Given the description of an element on the screen output the (x, y) to click on. 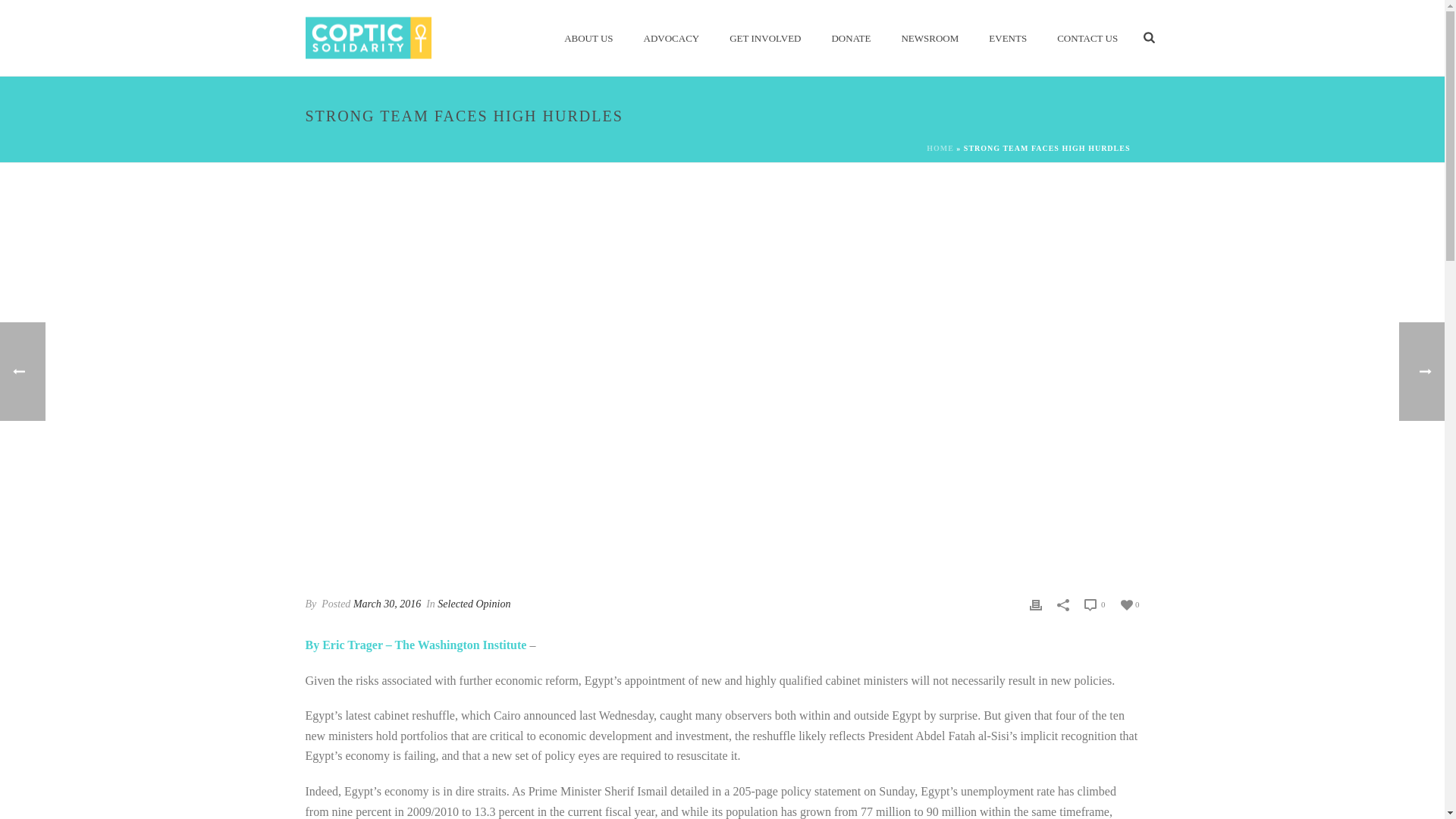
EVENTS (1008, 38)
ADVOCACY (671, 38)
CONTACT US (1087, 38)
CONTACT US (1087, 38)
DONATE (850, 38)
EVENTS (1008, 38)
GET INVOLVED (764, 38)
DONATE (850, 38)
NEWSROOM (929, 38)
NEWSROOM (929, 38)
ABOUT US (587, 38)
GET INVOLVED (764, 38)
Advocacy for equality (367, 37)
ABOUT US (587, 38)
